Given the description of an element on the screen output the (x, y) to click on. 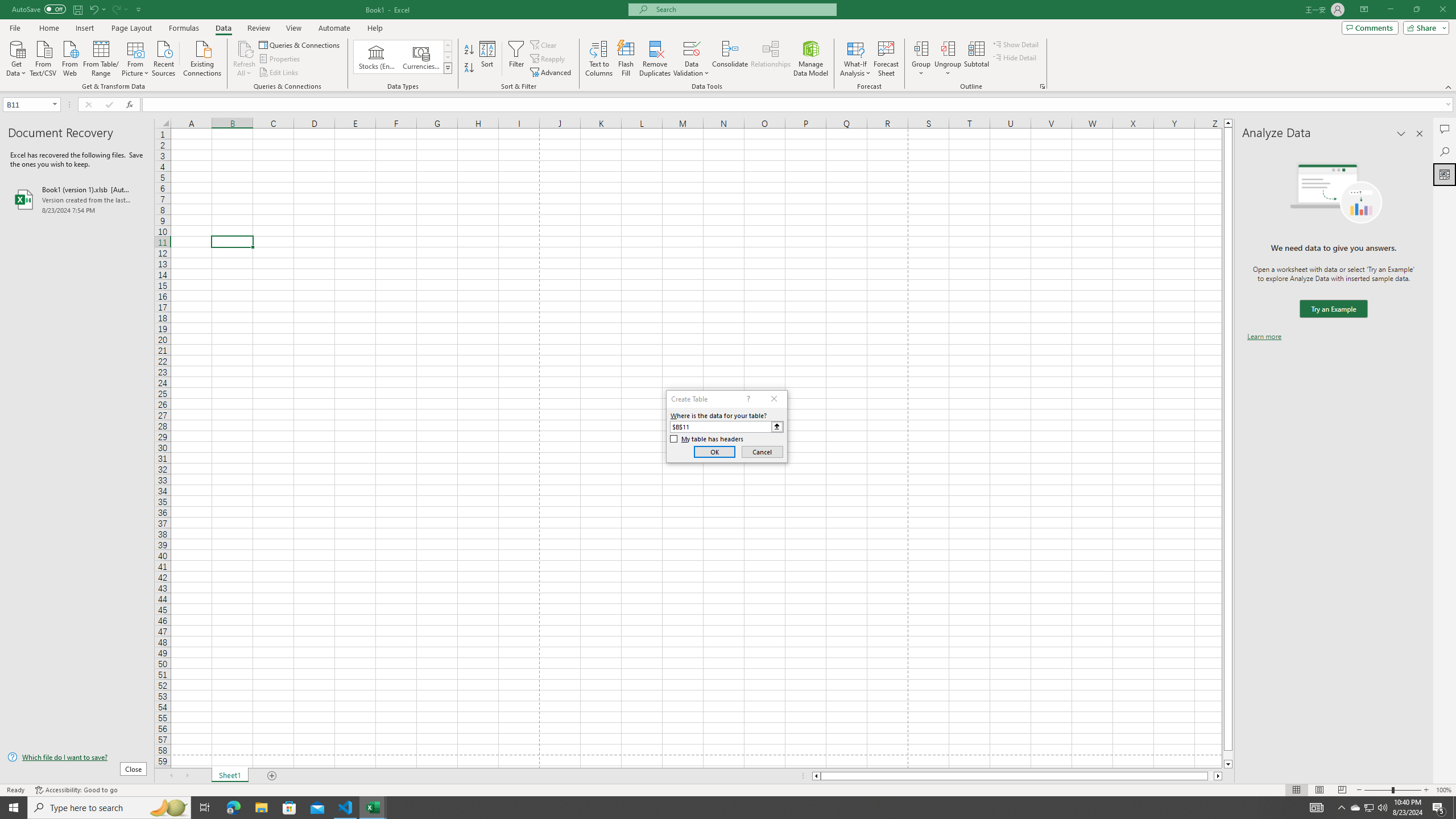
Page Break Preview (1342, 790)
Reapply (548, 58)
Row up (448, 45)
Group and Outline Settings (1042, 85)
Review (258, 28)
Line up (1228, 122)
Automate (334, 28)
Name Box (30, 104)
Recent Sources (163, 57)
Collapse the Ribbon (1448, 86)
System (6, 6)
Ribbon Display Options (1364, 9)
Insert (83, 28)
Quick Access Toolbar (77, 9)
